Given the description of an element on the screen output the (x, y) to click on. 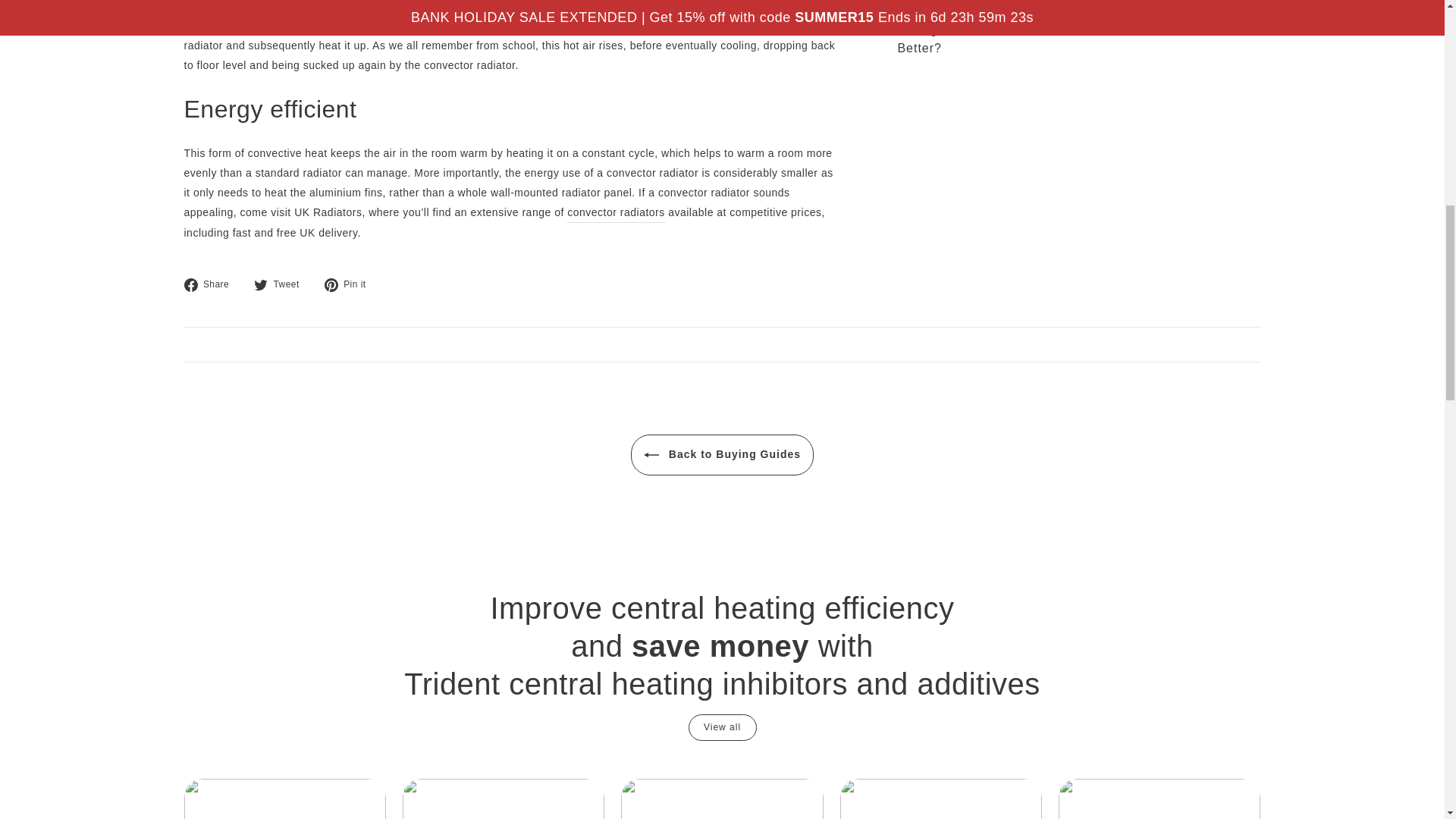
twitter (260, 284)
icon-left-arrow (651, 454)
Share on Facebook (211, 284)
Pin on Pinterest (350, 284)
Tweet on Twitter (282, 284)
